Given the description of an element on the screen output the (x, y) to click on. 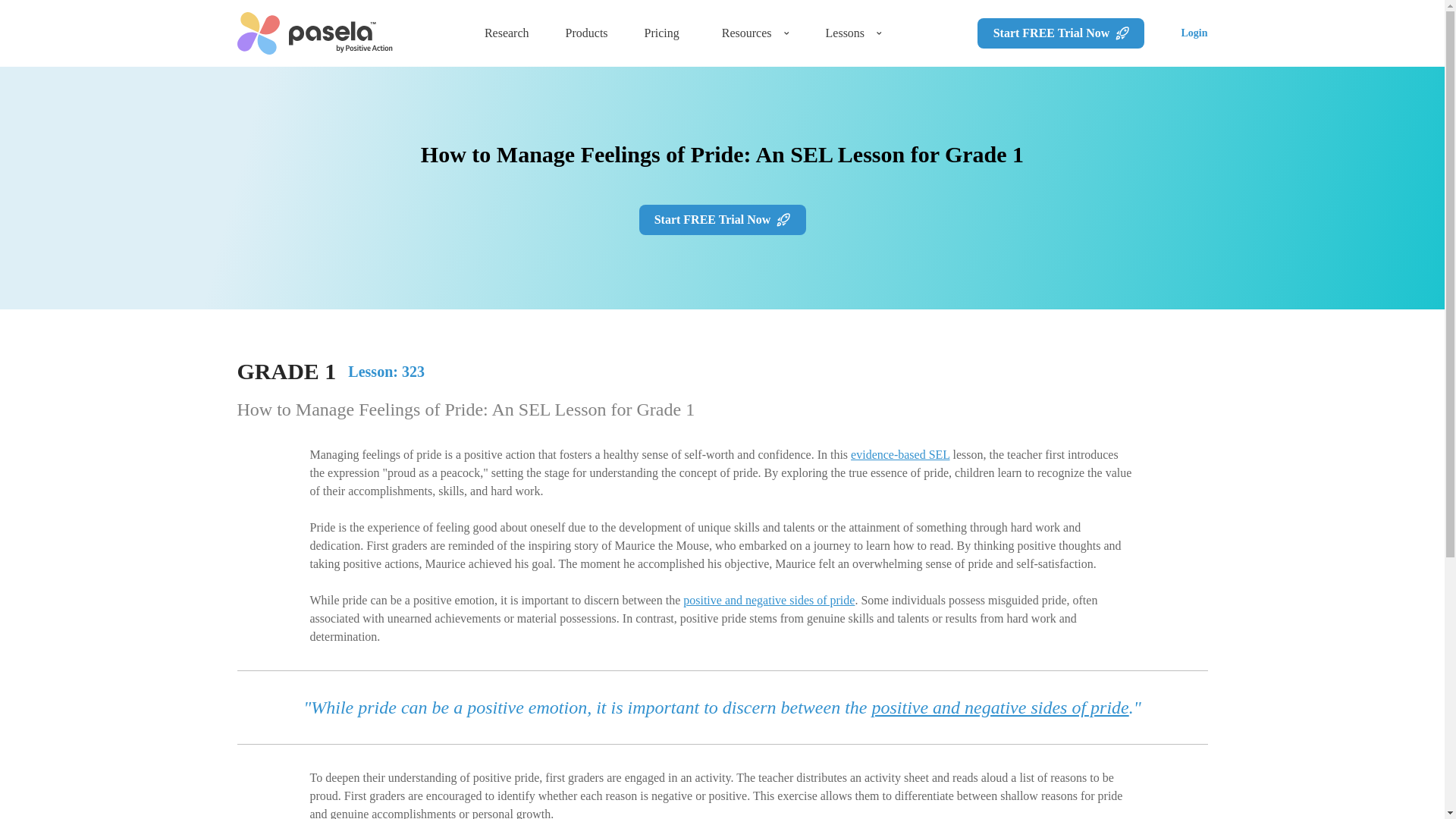
Pricing (662, 33)
positive and negative sides of pride (999, 707)
Start FREE Trial Now (1060, 33)
evidence-based SEL (899, 454)
positive and negative sides of pride (768, 599)
Products (587, 33)
Research (506, 33)
Start FREE Trial Now (722, 219)
